Given the description of an element on the screen output the (x, y) to click on. 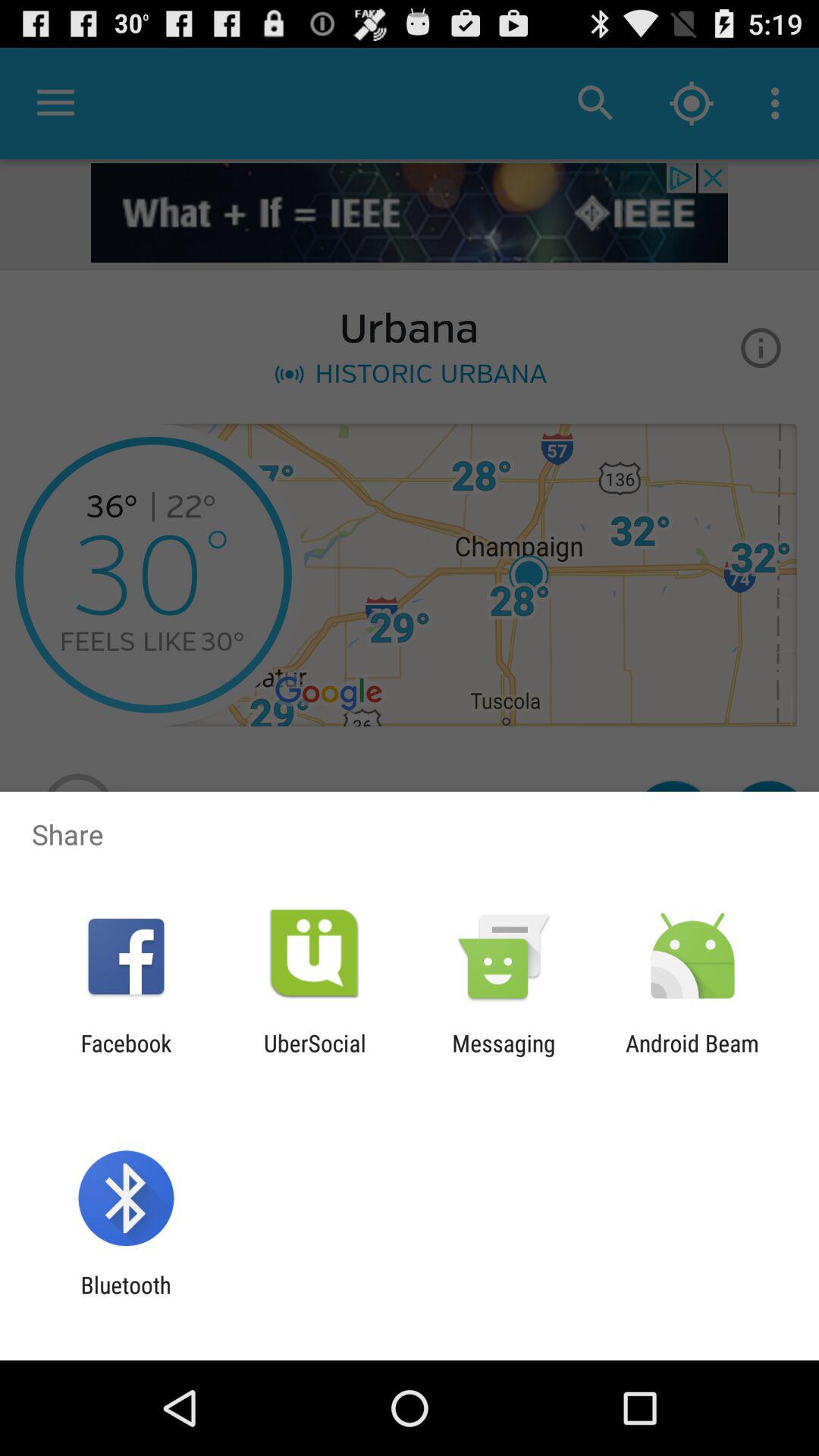
click the facebook icon (125, 1056)
